Given the description of an element on the screen output the (x, y) to click on. 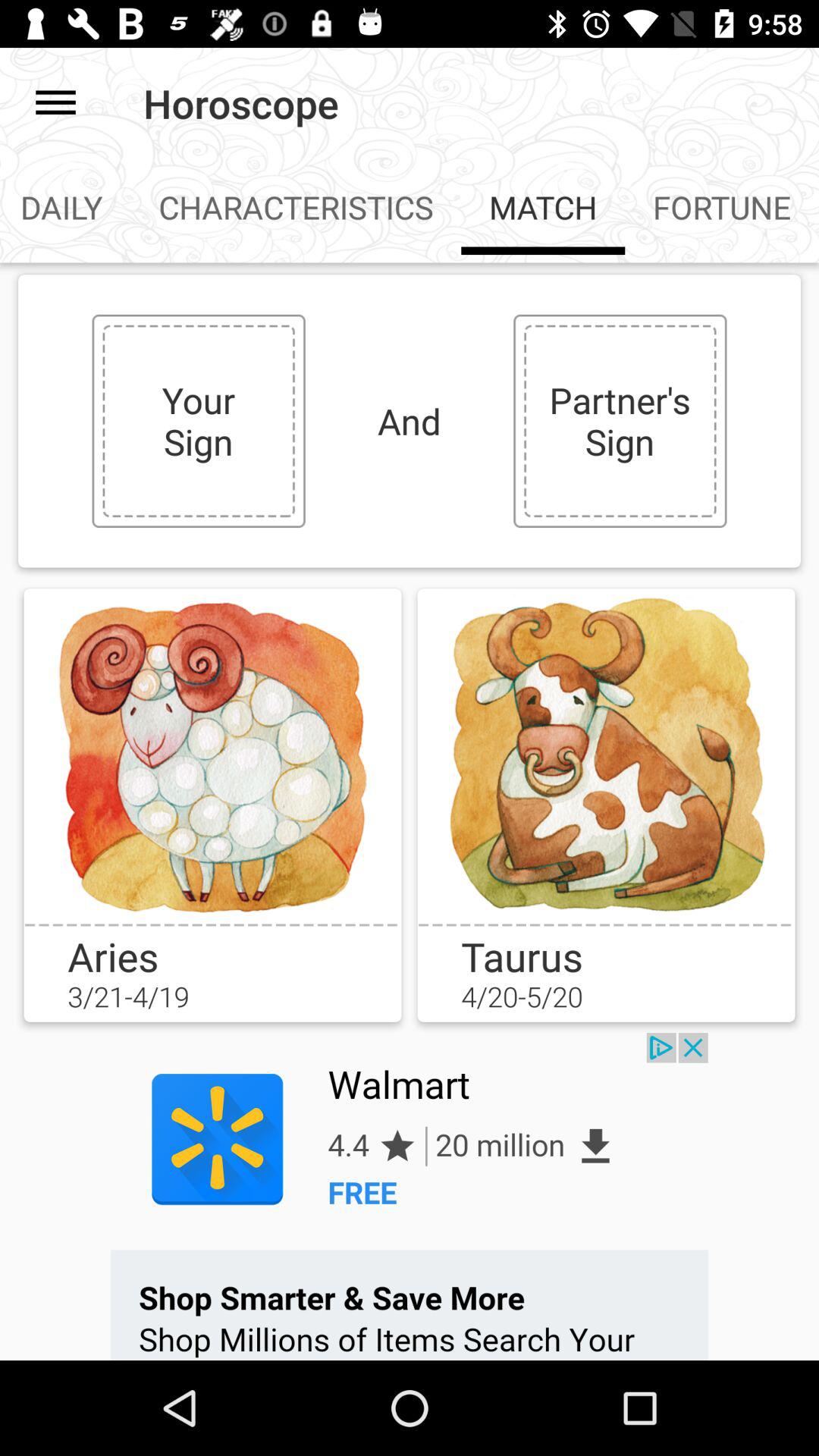
choose this (606, 755)
